Given the description of an element on the screen output the (x, y) to click on. 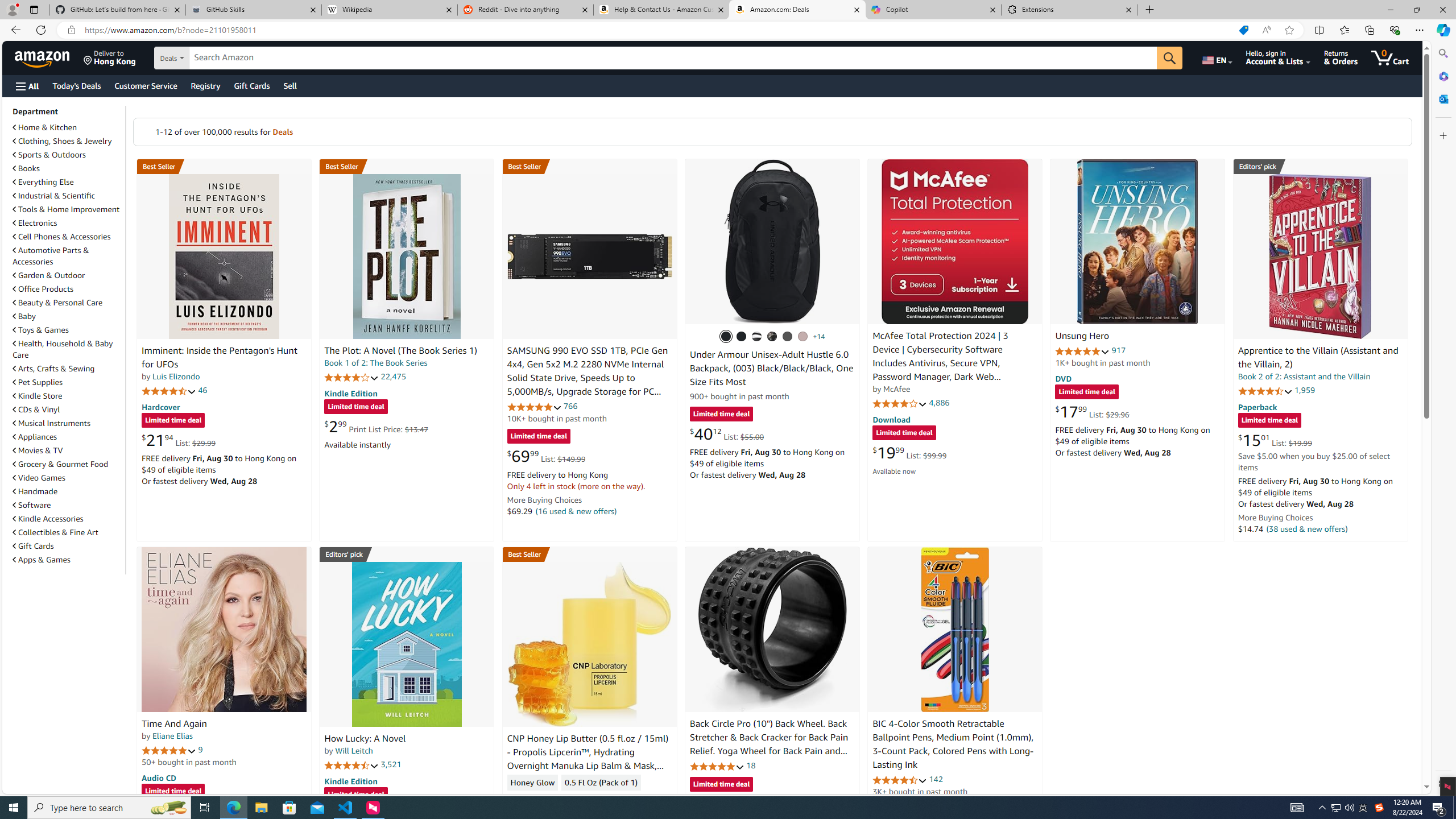
Choose a language for shopping. (1216, 57)
Office Products (43, 289)
Pet Supplies (37, 381)
$19.99 List: $99.99 (909, 452)
Electronics (34, 222)
Customer Service (145, 85)
Kindle Accessories (47, 518)
22,475 (393, 376)
Deliver to Hong Kong (109, 57)
Toys & Games (67, 329)
